Given the description of an element on the screen output the (x, y) to click on. 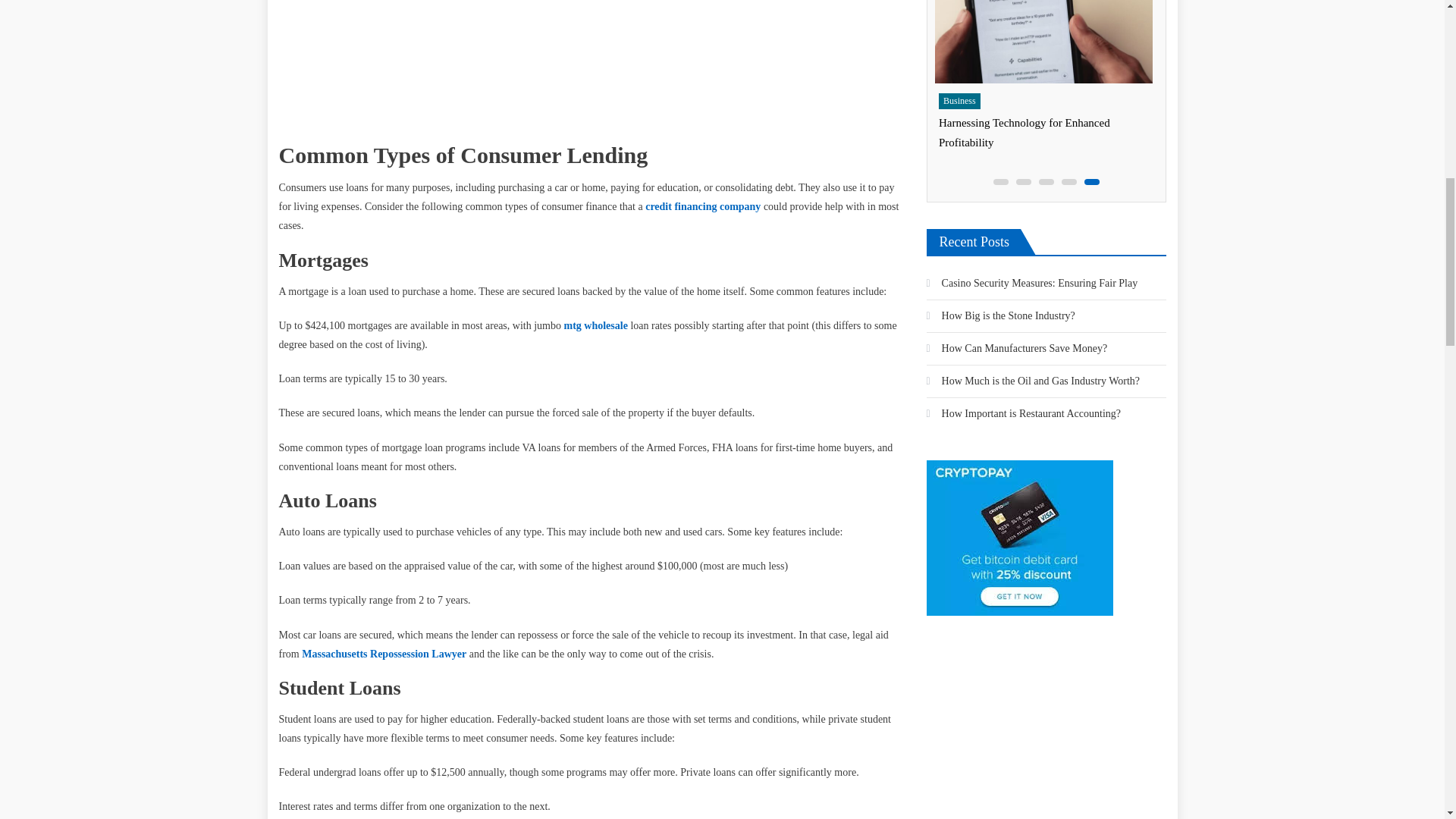
credit financing company (702, 206)
Massachusetts Repossession Lawyer (383, 654)
Harnessing Technology for Enhanced Profitability (1042, 41)
mtg wholesale (595, 325)
